Given the description of an element on the screen output the (x, y) to click on. 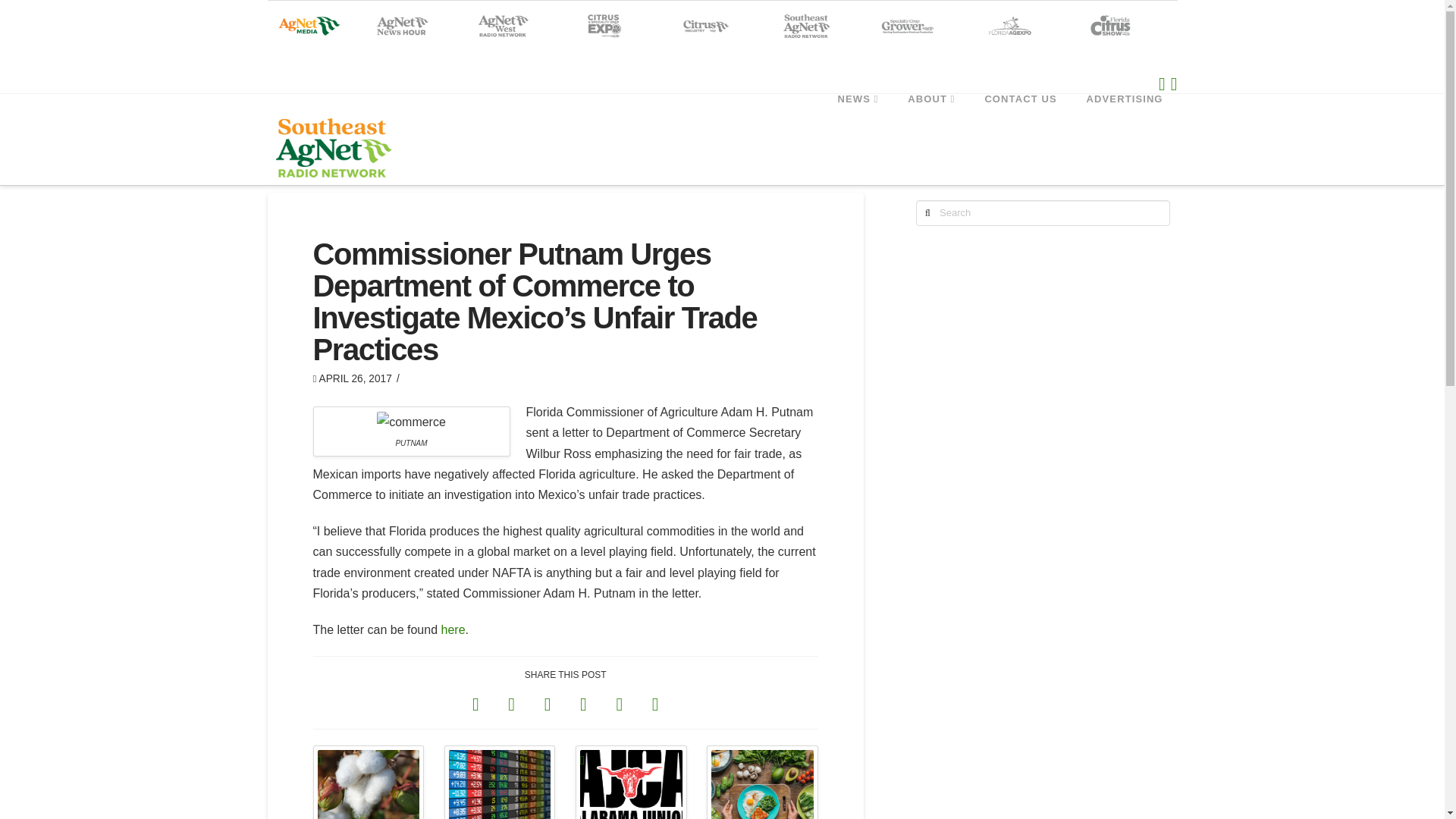
Permalink to: "AJCA Holds 18th Annual Round-Up" (631, 782)
CONTACT US (1019, 128)
Permalink to: "Keeping an Eye on Wall Street" (500, 782)
ADVERTISING (1124, 128)
ABOUT (930, 128)
Permalink to: "USDA Nutrition Hubs" (762, 782)
NEWS (857, 128)
